Given the description of an element on the screen output the (x, y) to click on. 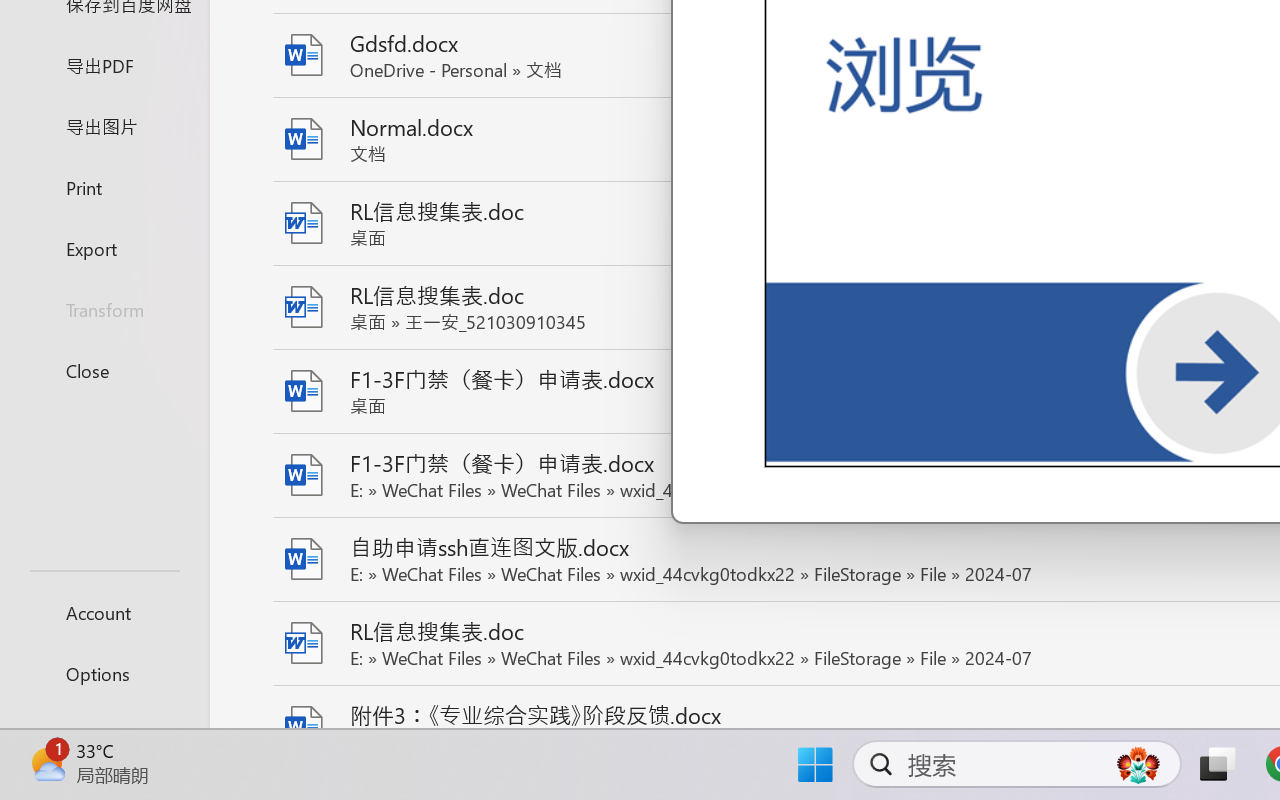
Account (104, 612)
Print (104, 186)
Transform (104, 309)
Options (104, 673)
Export (104, 248)
